Given the description of an element on the screen output the (x, y) to click on. 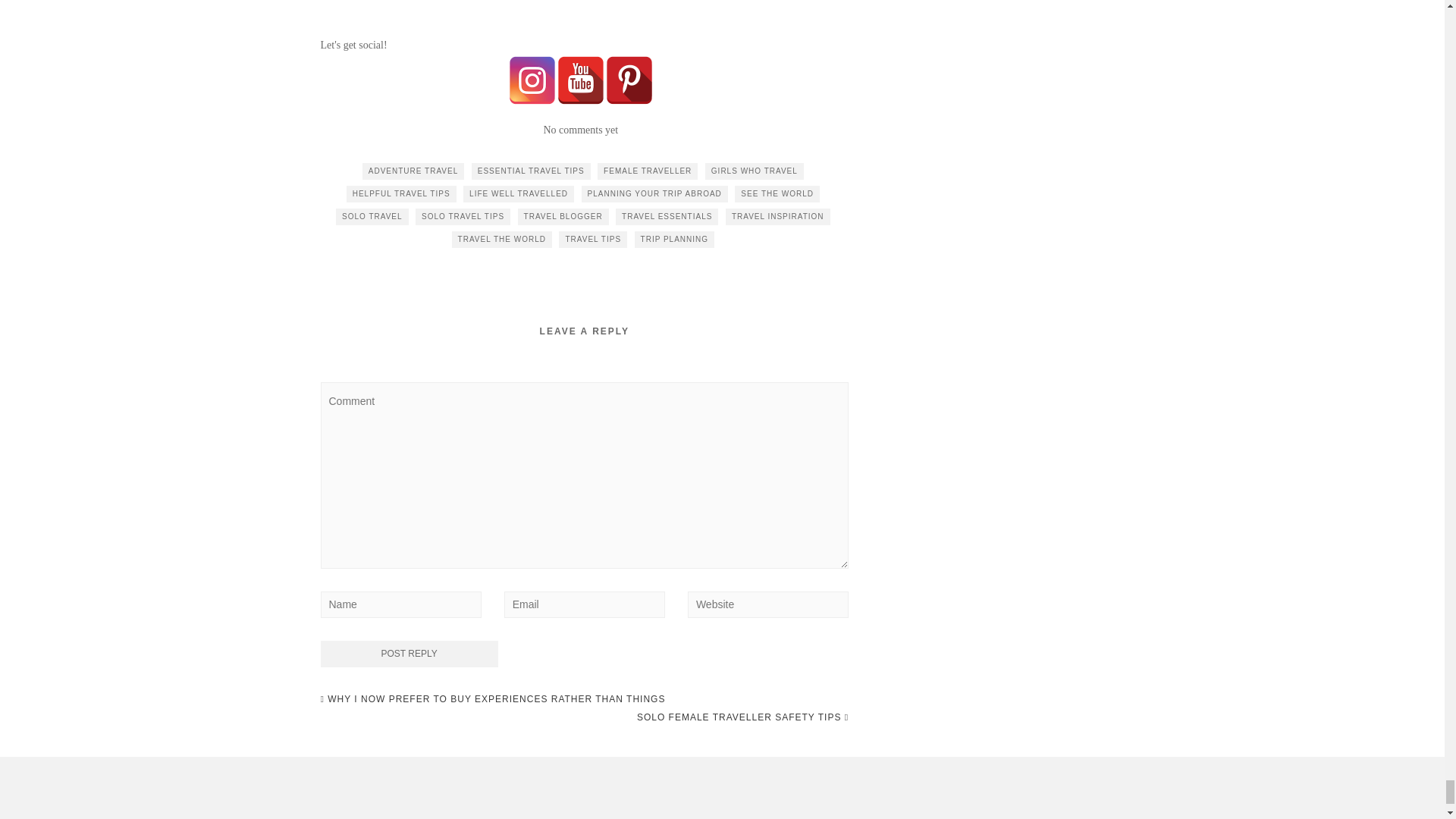
Post Reply (408, 653)
